Given the description of an element on the screen output the (x, y) to click on. 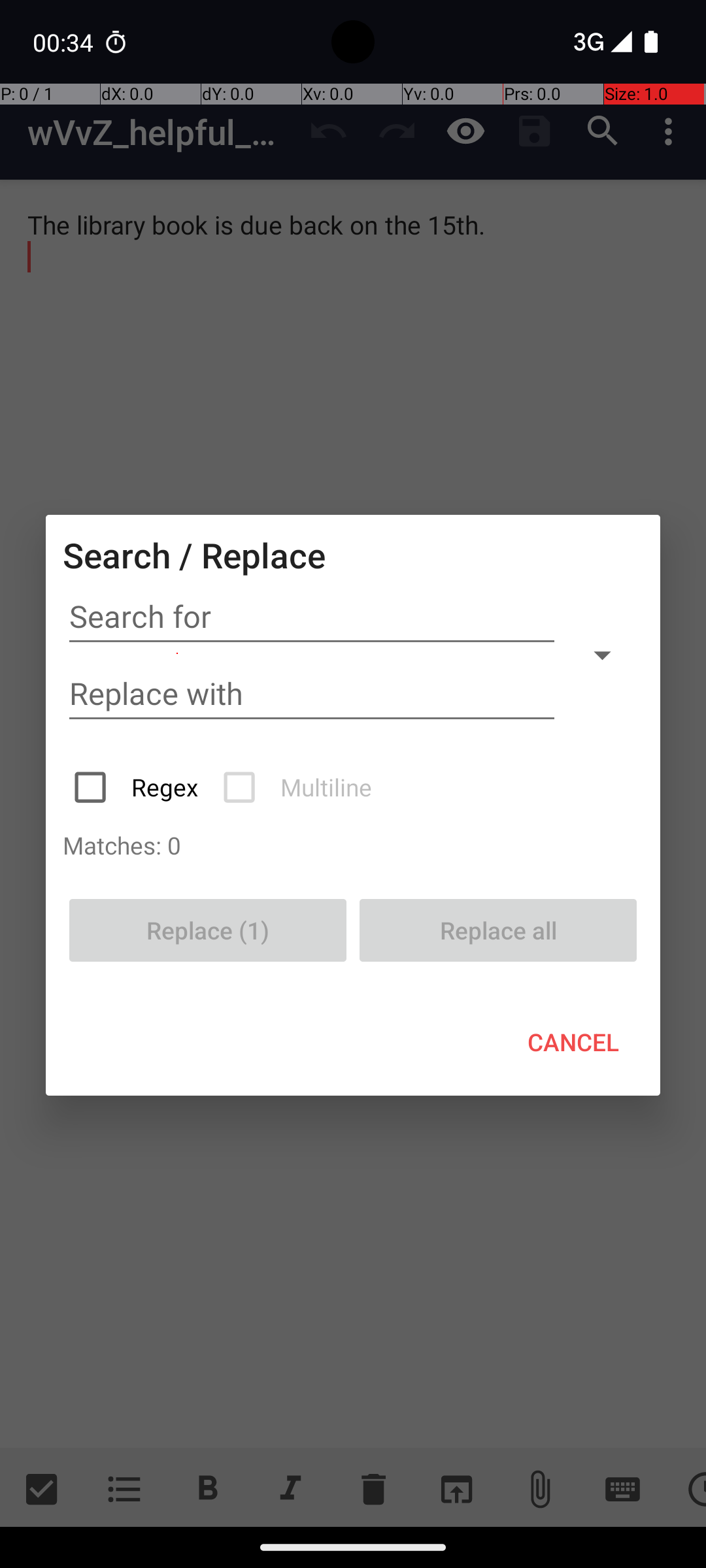
Search for Element type: android.widget.EditText (311, 616)
Replace with Element type: android.widget.EditText (311, 693)
00:34 Element type: android.widget.TextView (64, 41)
